Given the description of an element on the screen output the (x, y) to click on. 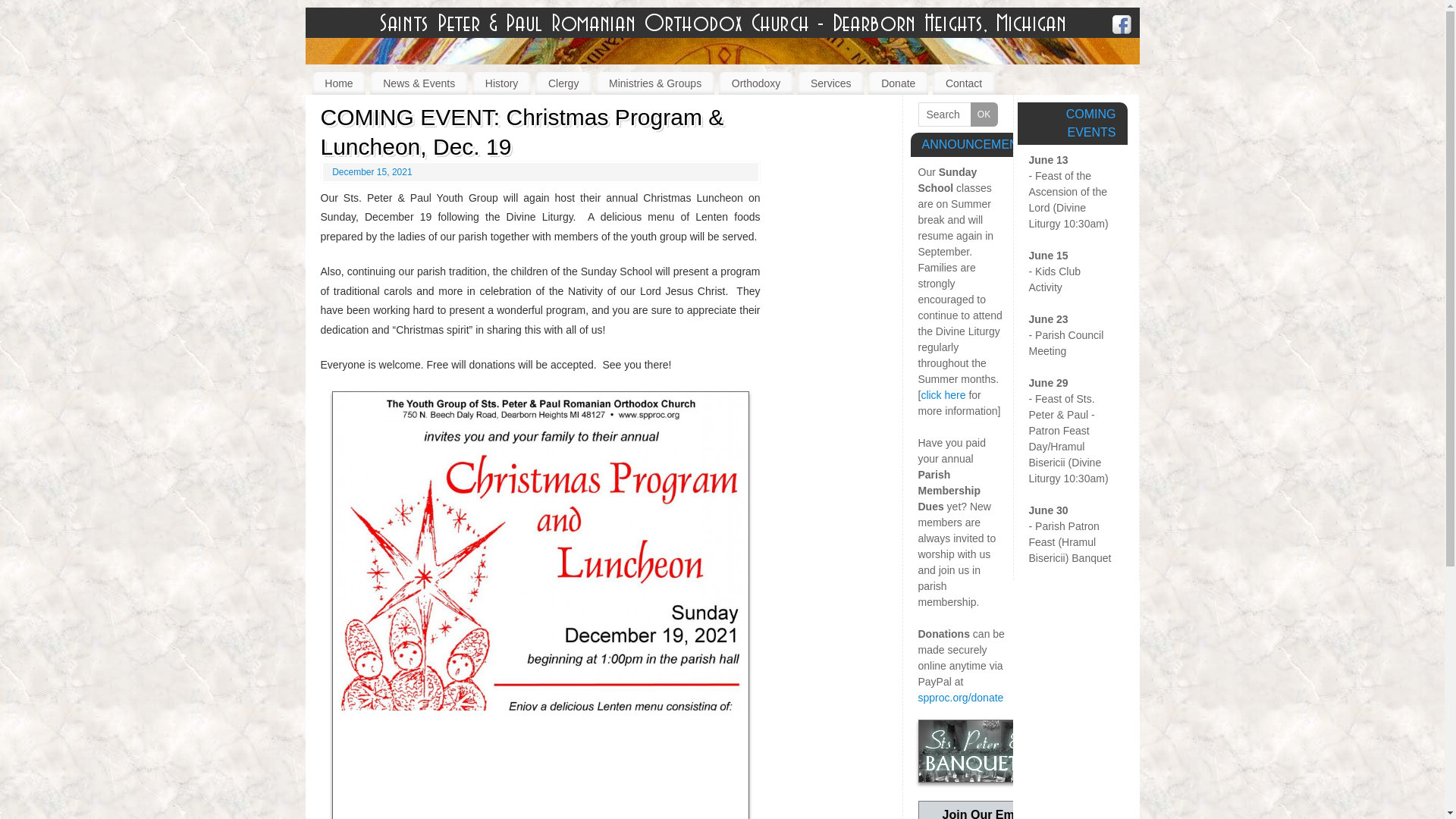
OK (984, 114)
History (501, 83)
Services (830, 83)
Clergy (563, 83)
12:50 am (371, 172)
Donate (897, 83)
Home (339, 83)
Orthodoxy (756, 83)
Search (957, 114)
Contact (963, 83)
December 15, 2021 (371, 172)
